Given the description of an element on the screen output the (x, y) to click on. 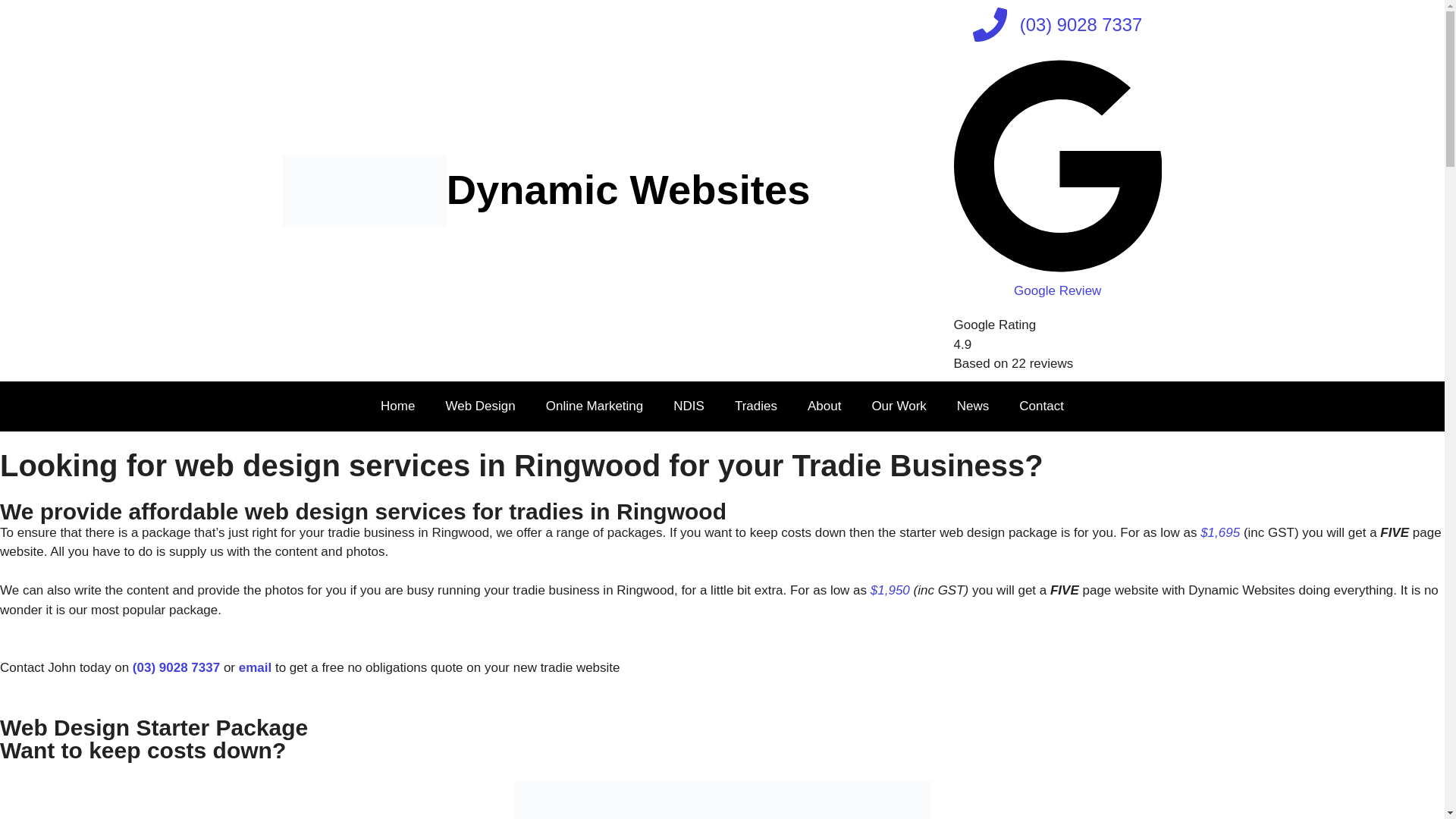
Dynamic Websites (628, 189)
Online Marketing (595, 406)
Google Review (1057, 280)
Home (397, 406)
Web Design (479, 406)
